Given the description of an element on the screen output the (x, y) to click on. 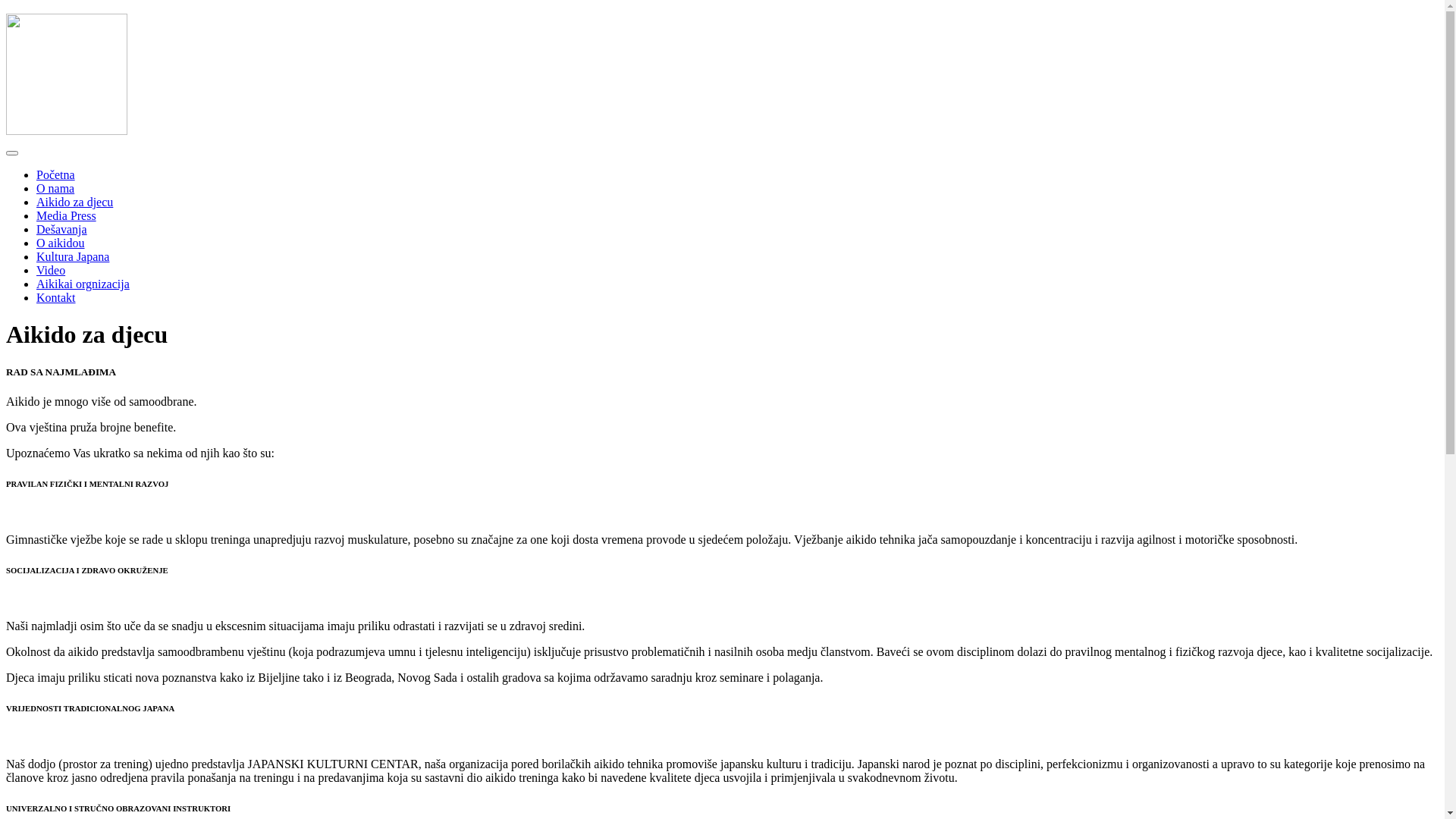
Kultura Japana Element type: text (72, 256)
Kontakt Element type: text (55, 297)
Aikido za djecu Element type: text (74, 201)
Media Press Element type: text (66, 215)
O aikidou Element type: text (60, 242)
Video Element type: text (50, 269)
Aikikai orgnizacija Element type: text (82, 283)
O nama Element type: text (55, 188)
